Given the description of an element on the screen output the (x, y) to click on. 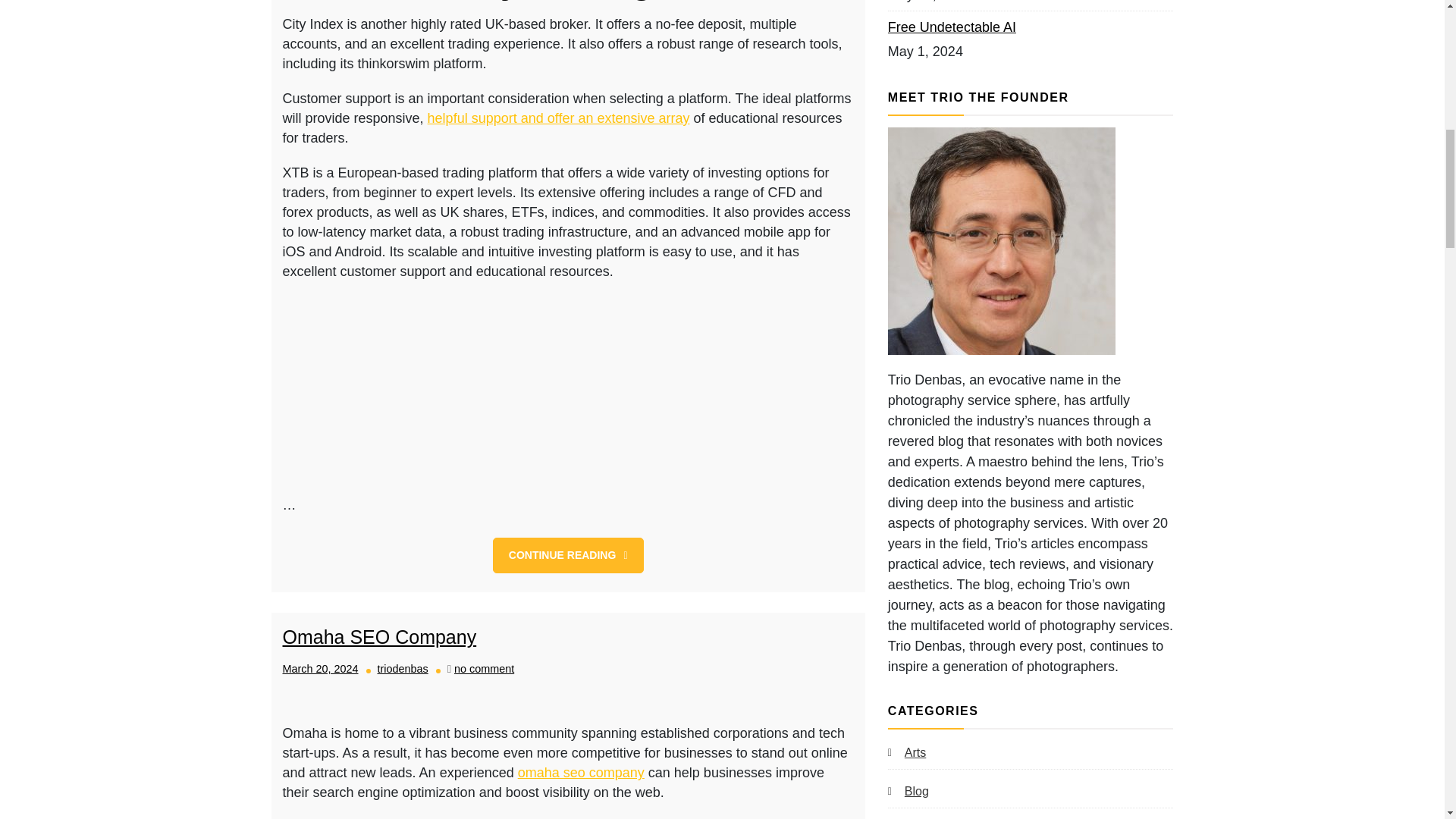
omaha seo company (581, 772)
March 20, 2024 (320, 668)
CONTINUE READING (483, 668)
triodenbas (568, 555)
Omaha SEO Company (402, 668)
helpful support and offer an extensive array (379, 636)
